Given the description of an element on the screen output the (x, y) to click on. 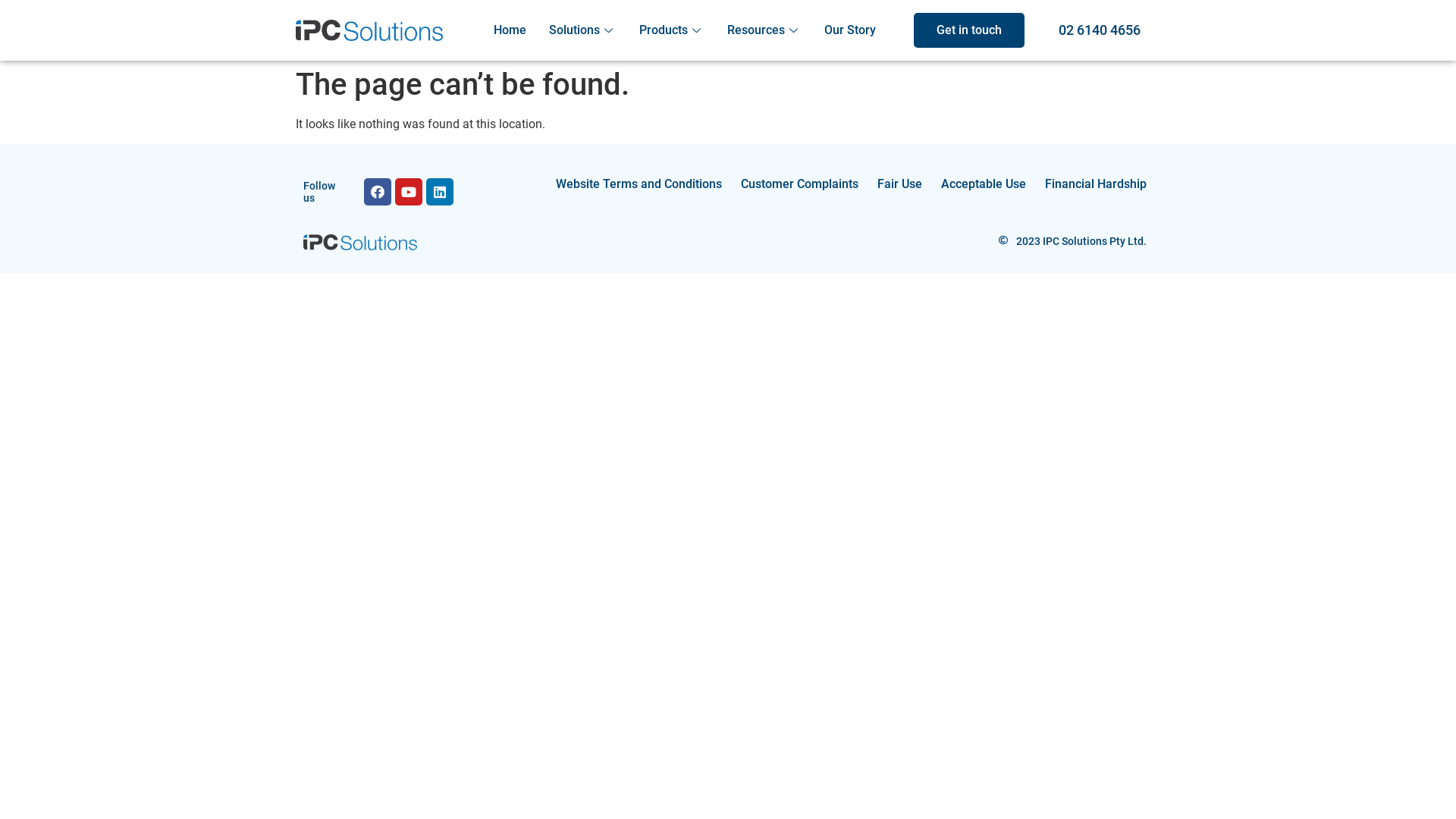
Acceptable Use Element type: text (983, 183)
Resources Element type: text (763, 30)
Customer Complaints Element type: text (799, 183)
Home Element type: text (509, 30)
02 6140 4656 Element type: text (1099, 29)
Solutions Element type: text (582, 30)
Fair Use Element type: text (899, 183)
Products Element type: text (671, 30)
Financial Hardship Element type: text (1095, 183)
IPC Logo PNG Transparent Element type: hover (360, 242)
Our Story Element type: text (849, 30)
Get in touch Element type: text (968, 29)
Website Terms and Conditions Element type: text (638, 183)
